Given the description of an element on the screen output the (x, y) to click on. 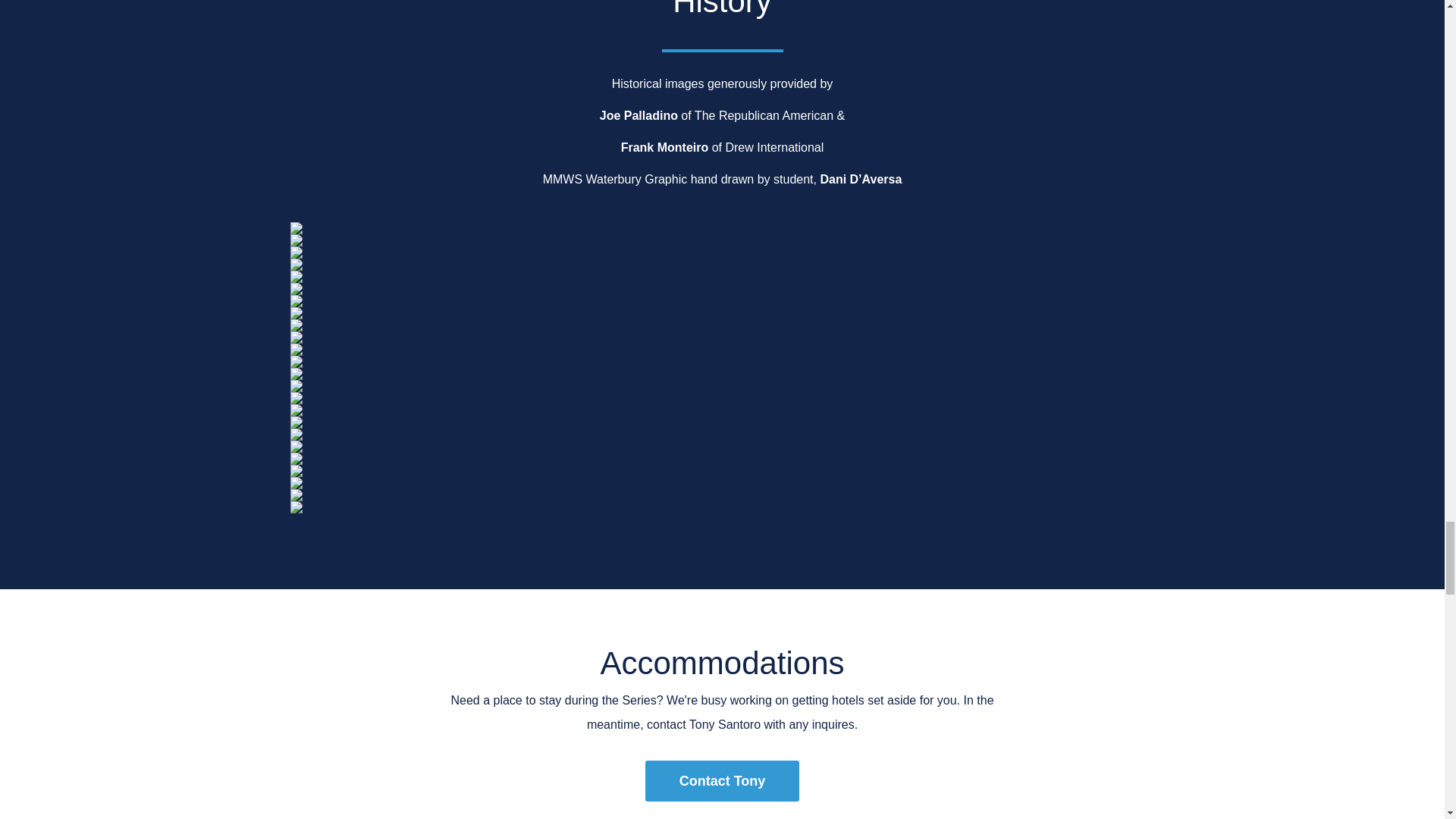
Contact Tony (722, 781)
